Given the description of an element on the screen output the (x, y) to click on. 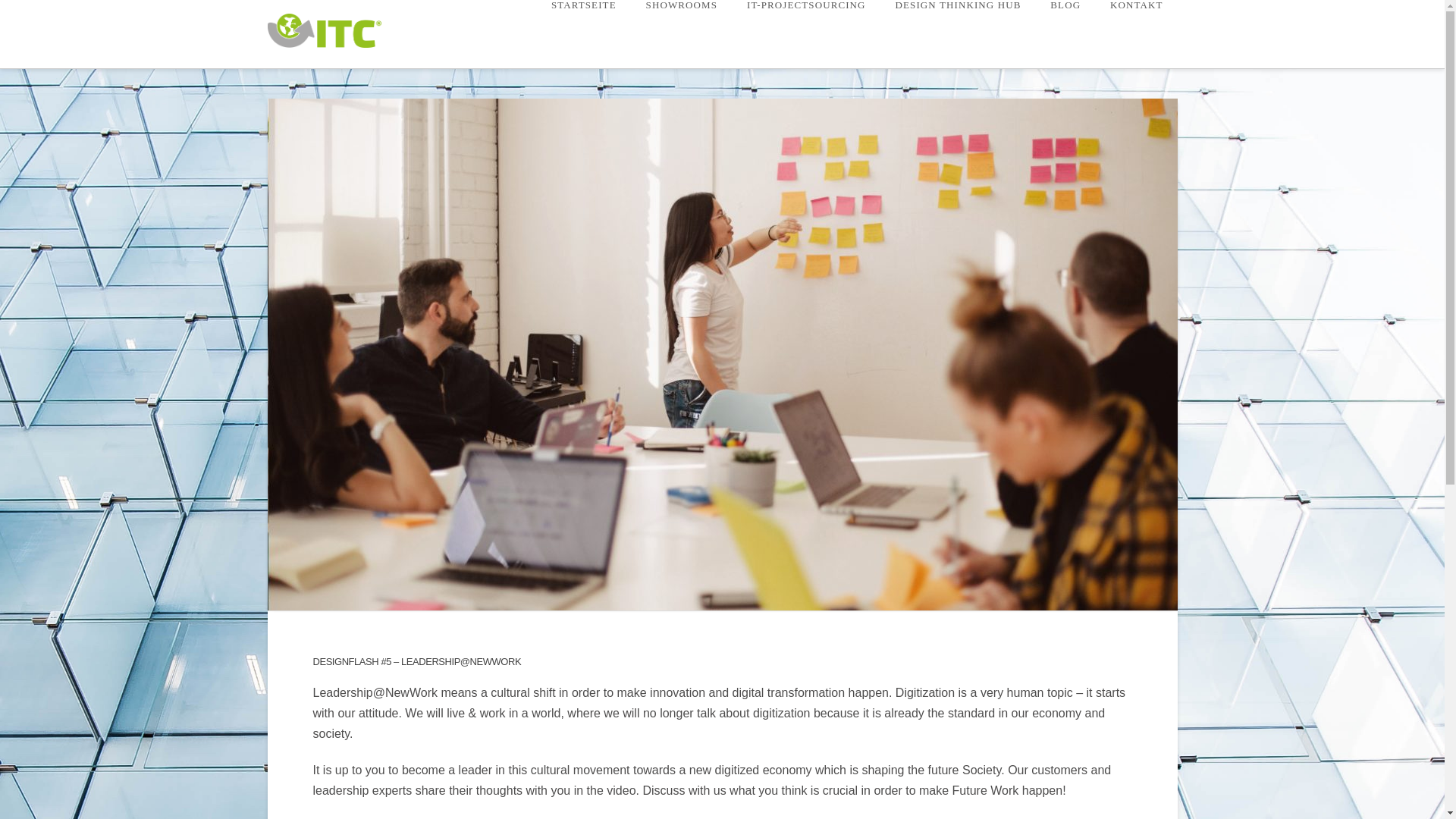
IT-PROJECTSOURCING (806, 33)
KONTAKT (1135, 33)
SHOWROOMS (681, 33)
DESIGN THINKING HUB (957, 33)
STARTSEITE (582, 33)
